Given the description of an element on the screen output the (x, y) to click on. 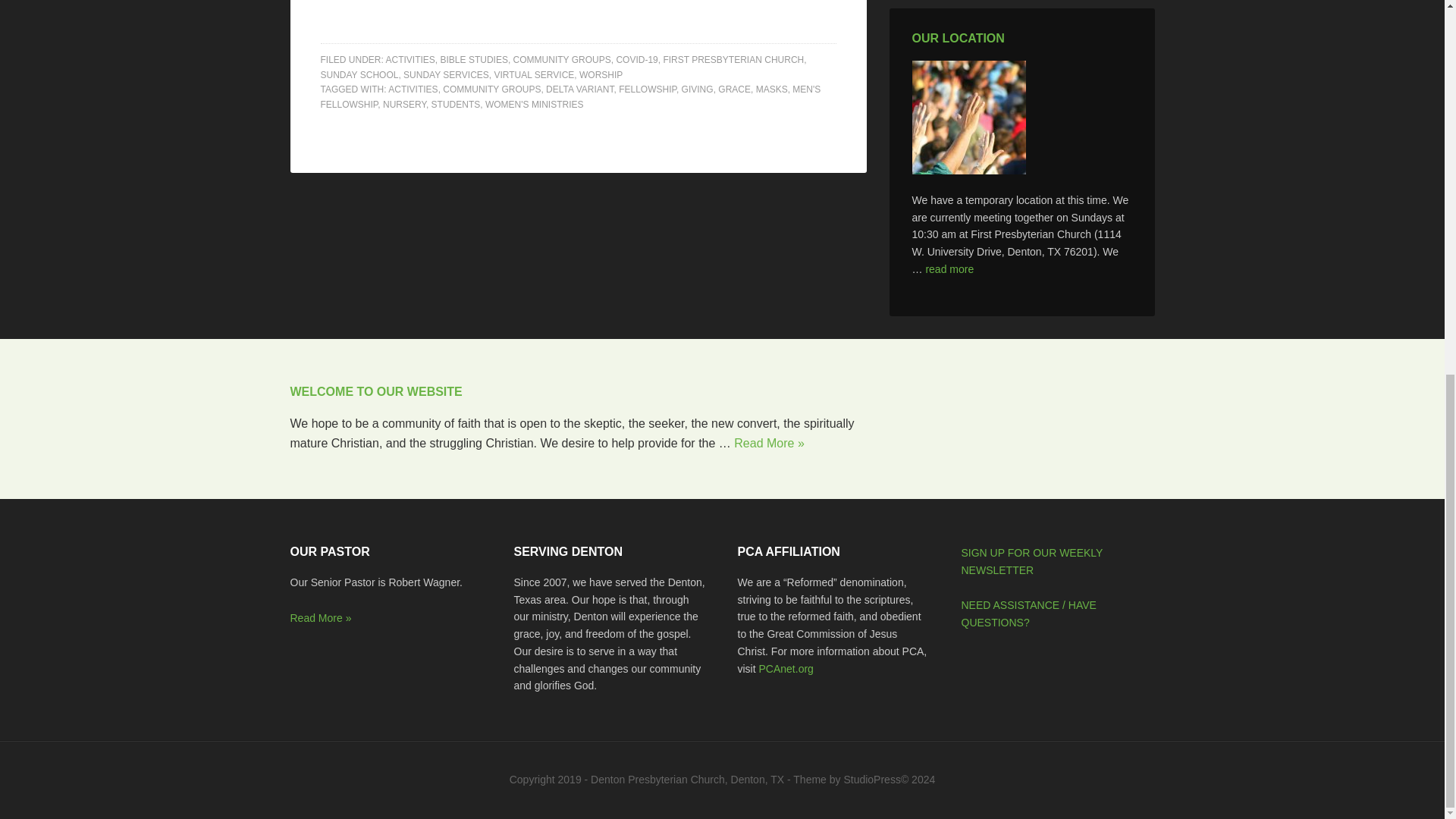
SUNDAY SCHOOL (358, 74)
FIRST PRESBYTERIAN CHURCH (732, 59)
GRACE (734, 89)
COMMUNITY GROUPS (491, 89)
COMMUNITY GROUPS (562, 59)
DELTA VARIANT (579, 89)
MEN'S FELLOWSHIP (570, 96)
MASKS (771, 89)
ACTIVITIES (413, 89)
STUDENTS (455, 103)
BIBLE STUDIES (474, 59)
ACTIVITIES (410, 59)
VIRTUAL SERVICE (533, 74)
GIVING (697, 89)
NURSERY (404, 103)
